Given the description of an element on the screen output the (x, y) to click on. 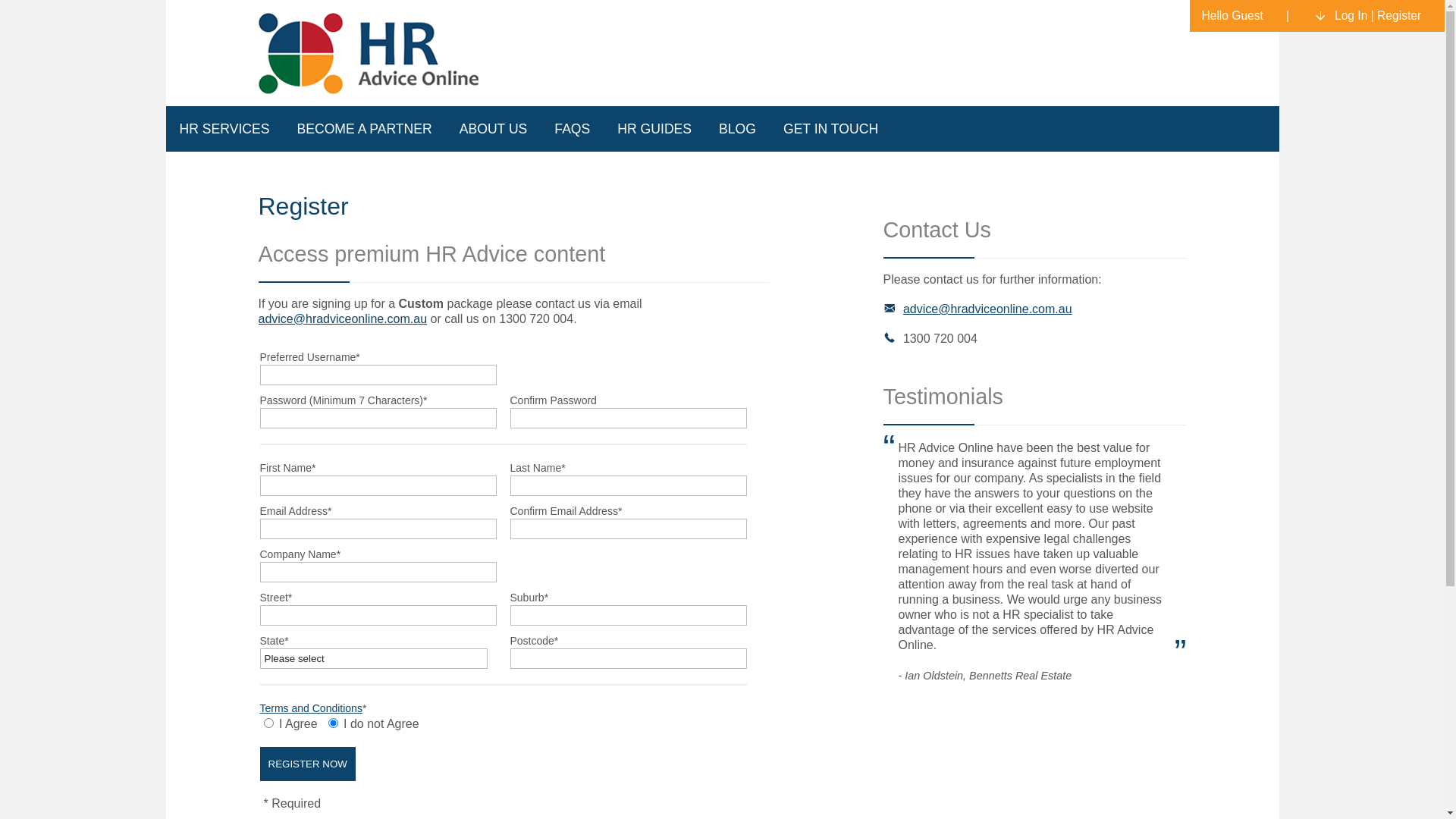
Register Now Element type: text (306, 763)
HR Advice OnLine Pty Ltd Element type: hover (370, 53)
advice@hradviceonline.com.au Element type: text (341, 318)
advice@hradviceonline.com.au Element type: text (987, 308)
HR GUIDES Element type: text (654, 128)
Terms and Conditions Element type: text (310, 708)
BLOG Element type: text (737, 128)
BECOME A PARTNER Element type: text (363, 128)
ABOUT US Element type: text (493, 128)
Log In | Register Element type: text (1372, 15)
FAQS Element type: text (571, 128)
GET IN TOUCH Element type: text (830, 128)
